Given the description of an element on the screen output the (x, y) to click on. 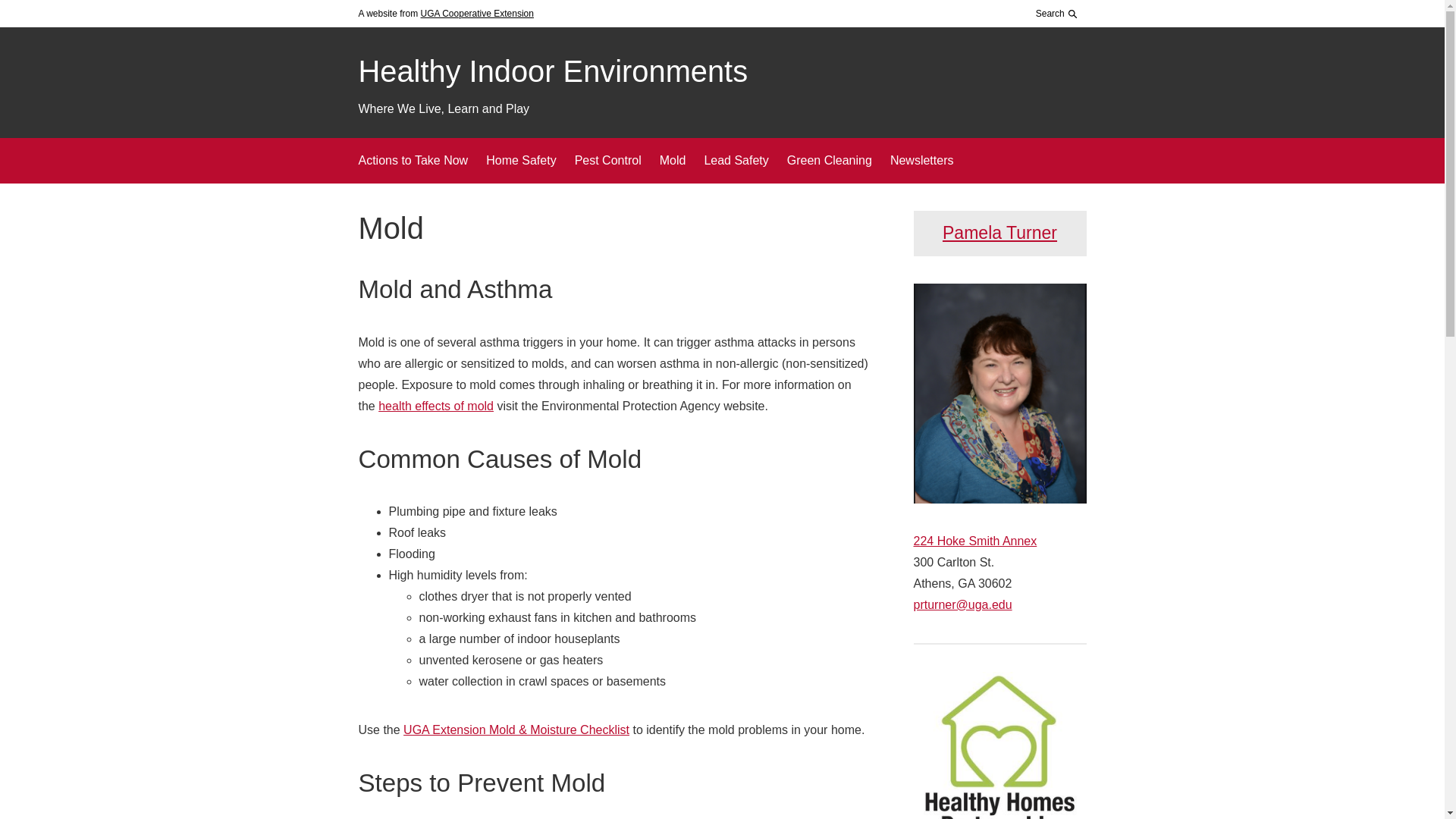
Actions to Take Now (412, 160)
Search (1056, 13)
Lead Safety (735, 160)
Home Safety (521, 160)
Pamela Turner (999, 232)
Pest Control (608, 160)
Newsletters (921, 160)
health effects of mold (435, 405)
Search (1053, 52)
224 Hoke Smith Annex (974, 540)
